Given the description of an element on the screen output the (x, y) to click on. 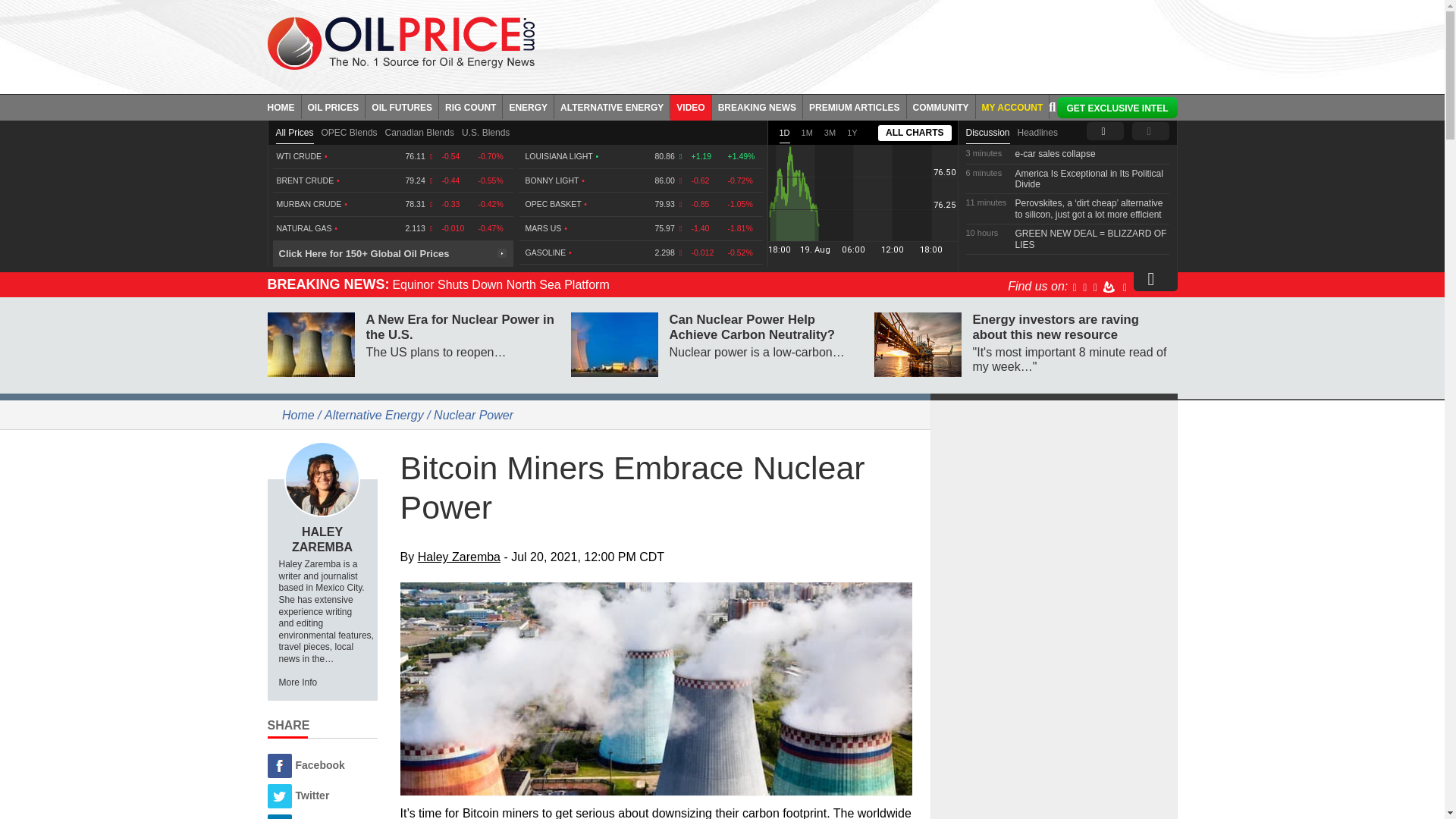
BREAKING NEWS (757, 106)
HOME (283, 106)
PREMIUM ARTICLES (855, 106)
MY ACCOUNT (1012, 106)
VIDEO (690, 106)
Haley Zaremba (321, 478)
Oil prices - Oilprice.com (400, 42)
Can Nuclear Power Help Achieve Carbon Neutrality? (614, 344)
OIL FUTURES (402, 106)
ENERGY (528, 106)
